Given the description of an element on the screen output the (x, y) to click on. 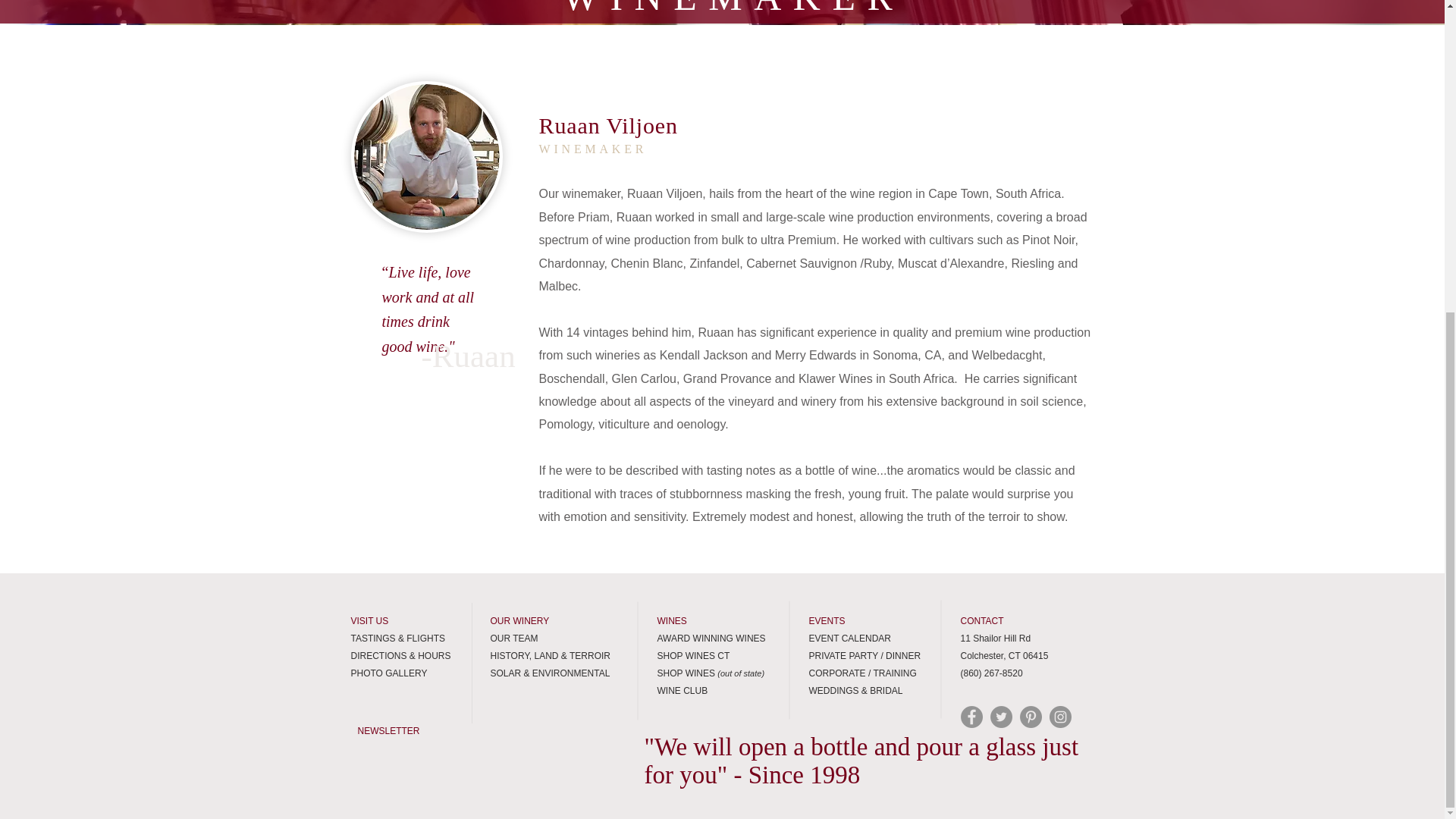
PHOTO GALLERY (388, 673)
OUR WINERY (518, 620)
VISIT US (369, 620)
